Given the description of an element on the screen output the (x, y) to click on. 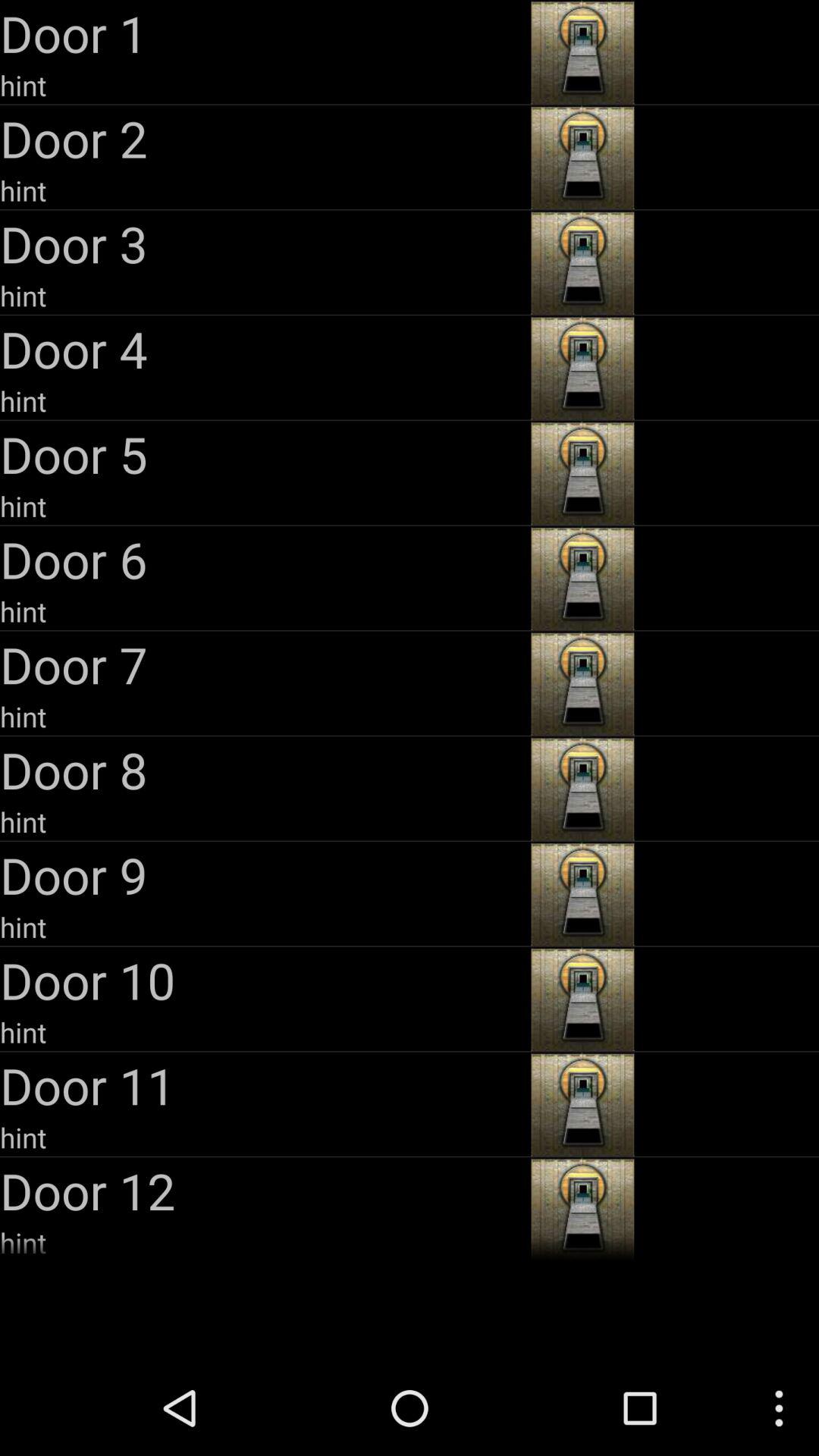
jump to the door 6 icon (263, 559)
